Given the description of an element on the screen output the (x, y) to click on. 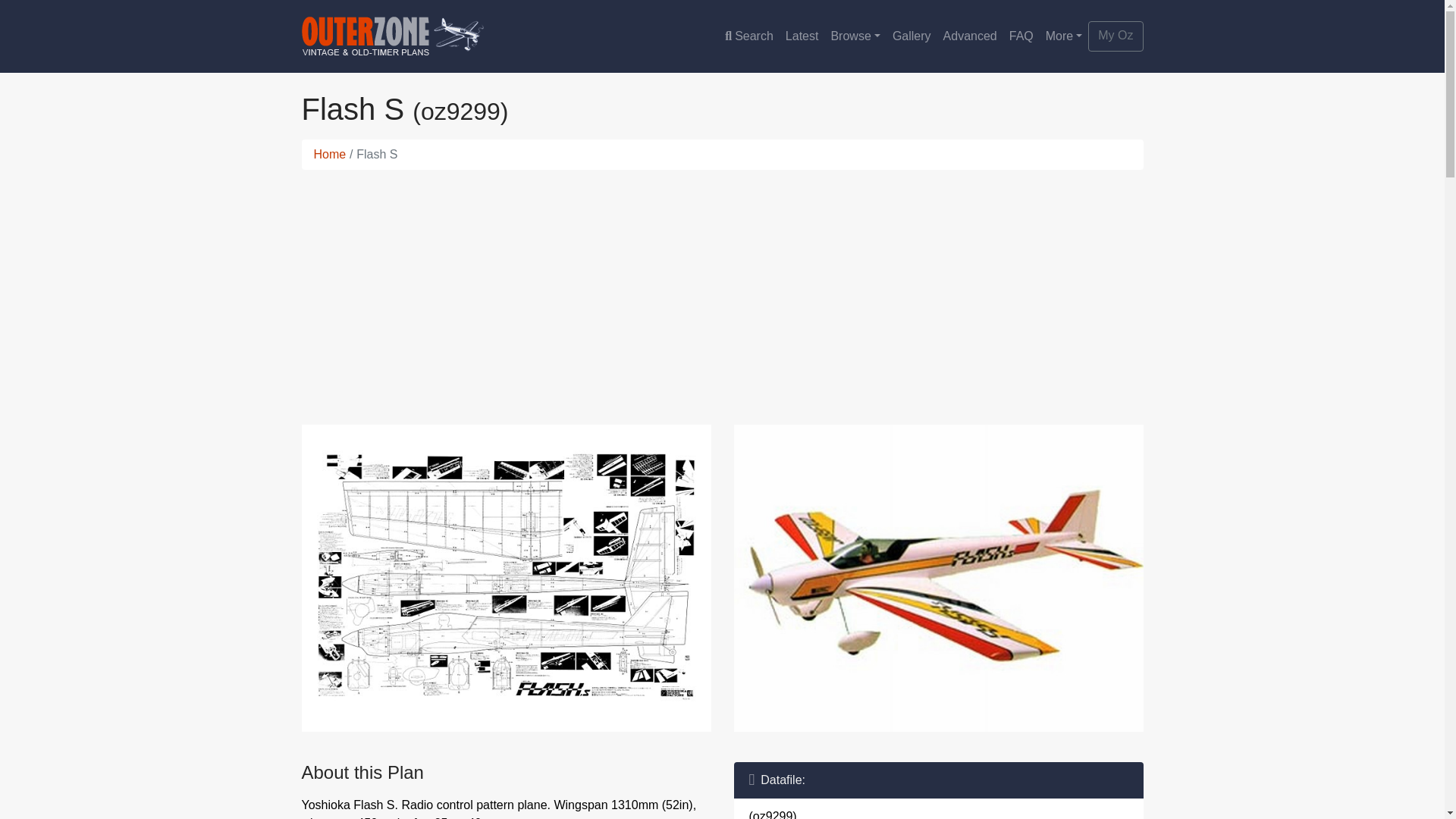
Gallery (911, 36)
FAQ (1021, 36)
Search (748, 36)
Latest (801, 36)
More (1064, 36)
Home (330, 154)
Advanced (970, 36)
Browse (854, 36)
My Oz (1114, 36)
